Given the description of an element on the screen output the (x, y) to click on. 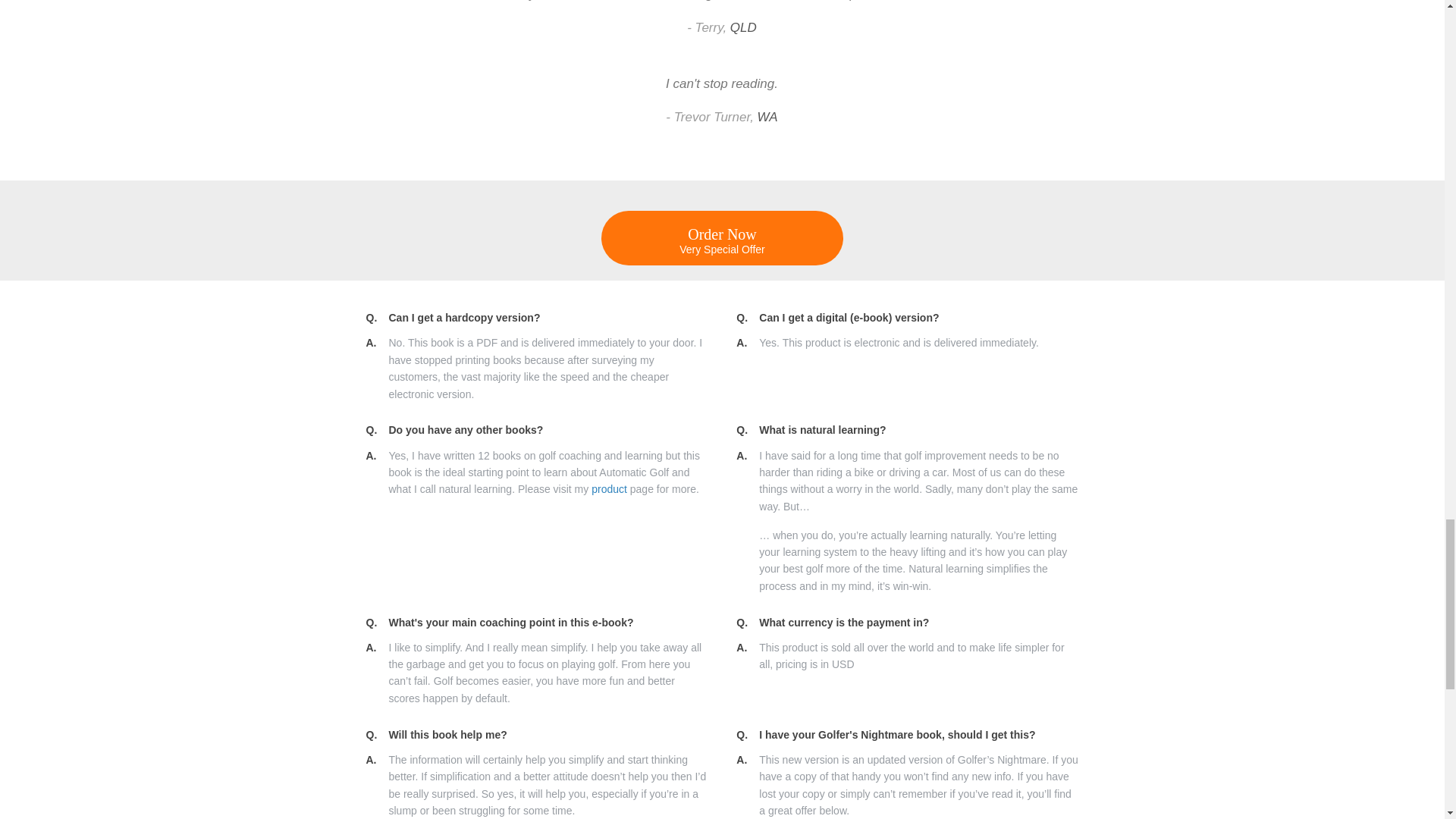
product (609, 489)
